Given the description of an element on the screen output the (x, y) to click on. 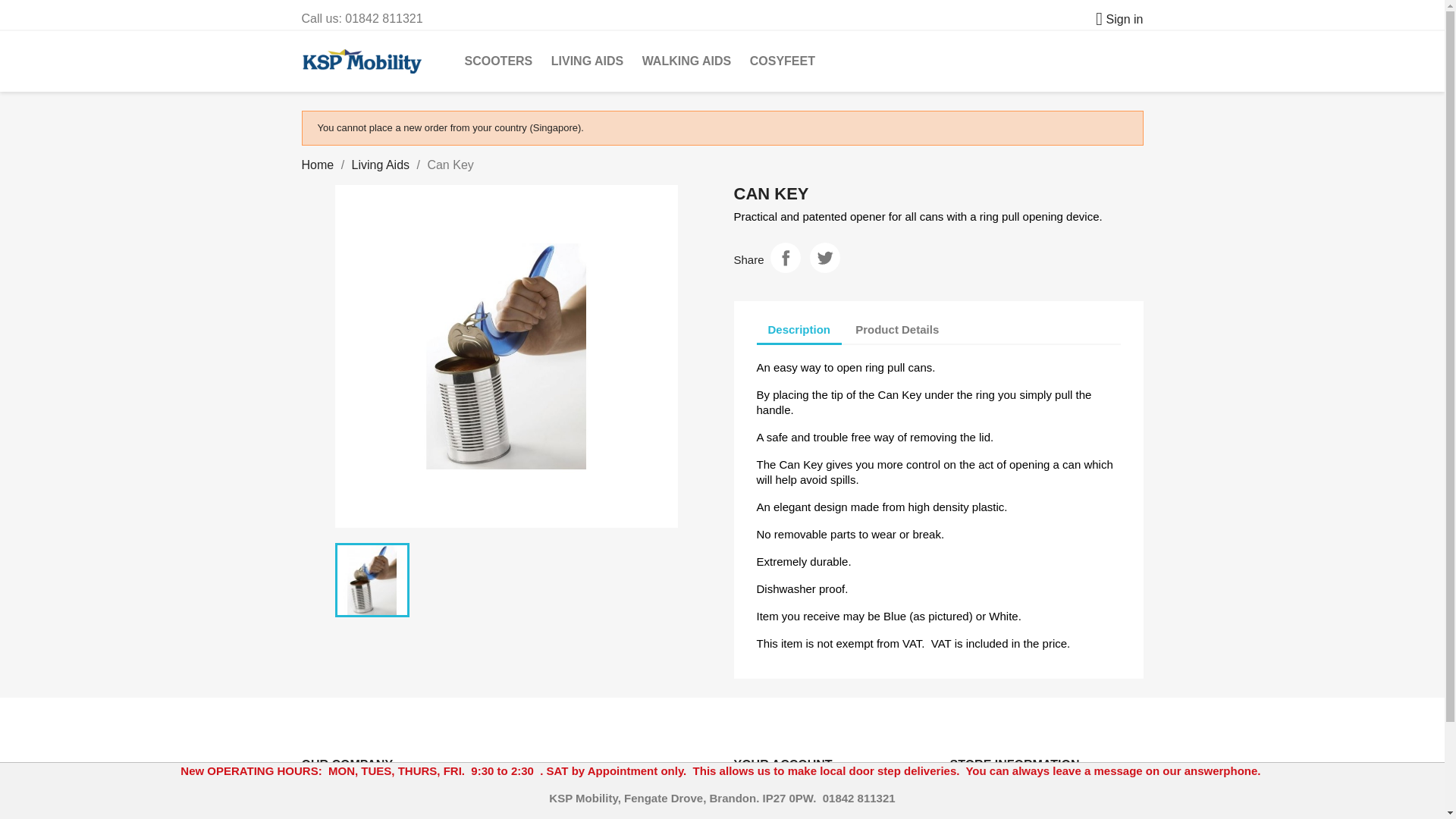
Can Key. (506, 356)
Share (785, 257)
Use our form to contact us (541, 814)
About us (322, 810)
Terms and conditions (566, 797)
Our terms and conditions of delivery (320, 791)
YOUR ACCOUNT (782, 764)
Home (317, 164)
Merchandise returns (782, 810)
COSYFEET (782, 60)
Share (785, 257)
Living Aids (381, 164)
Our terms and conditions of use (566, 797)
Contact us (541, 814)
Merchandise returns (782, 810)
